Given the description of an element on the screen output the (x, y) to click on. 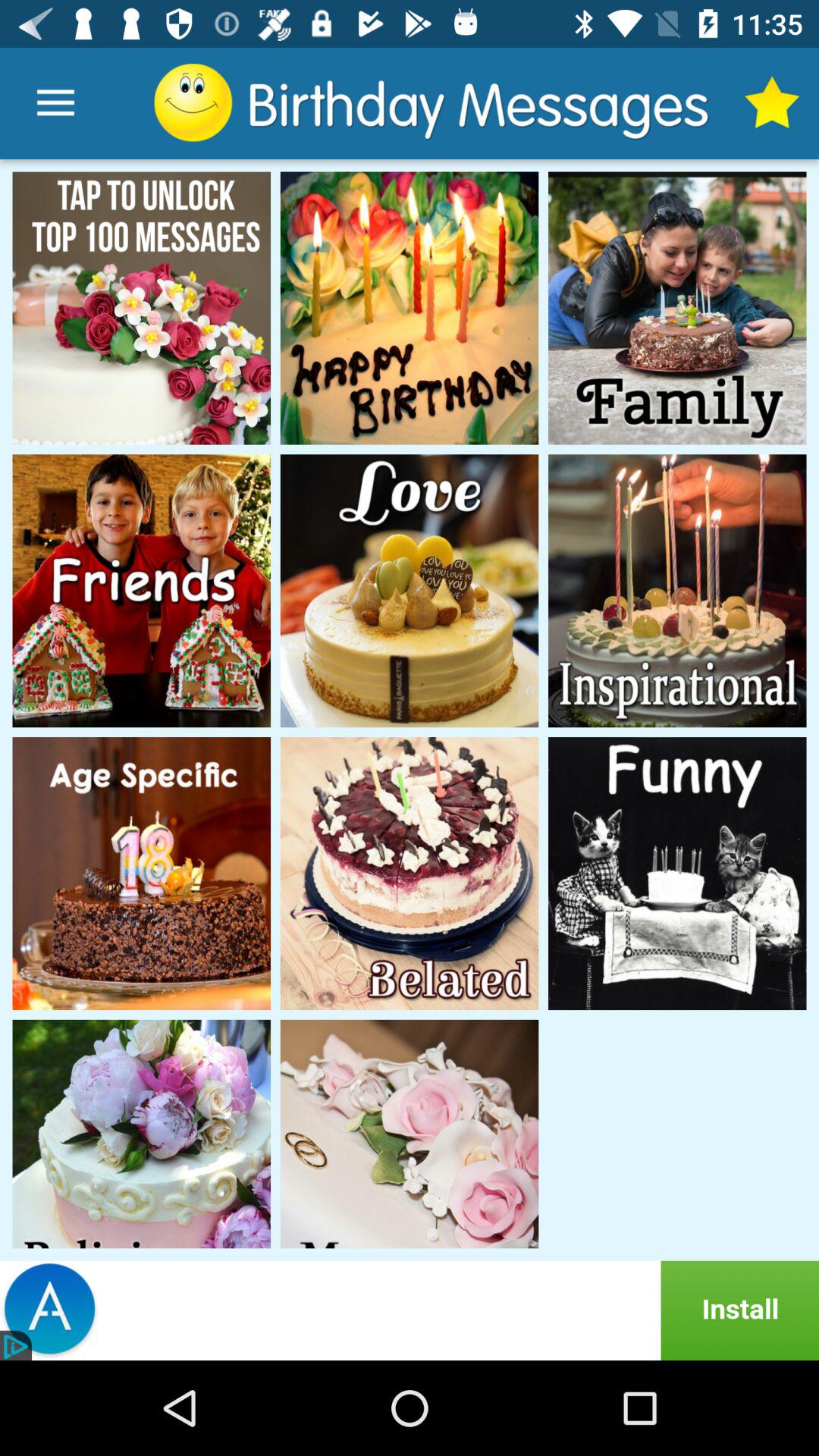
install advertised site (409, 1310)
